Given the description of an element on the screen output the (x, y) to click on. 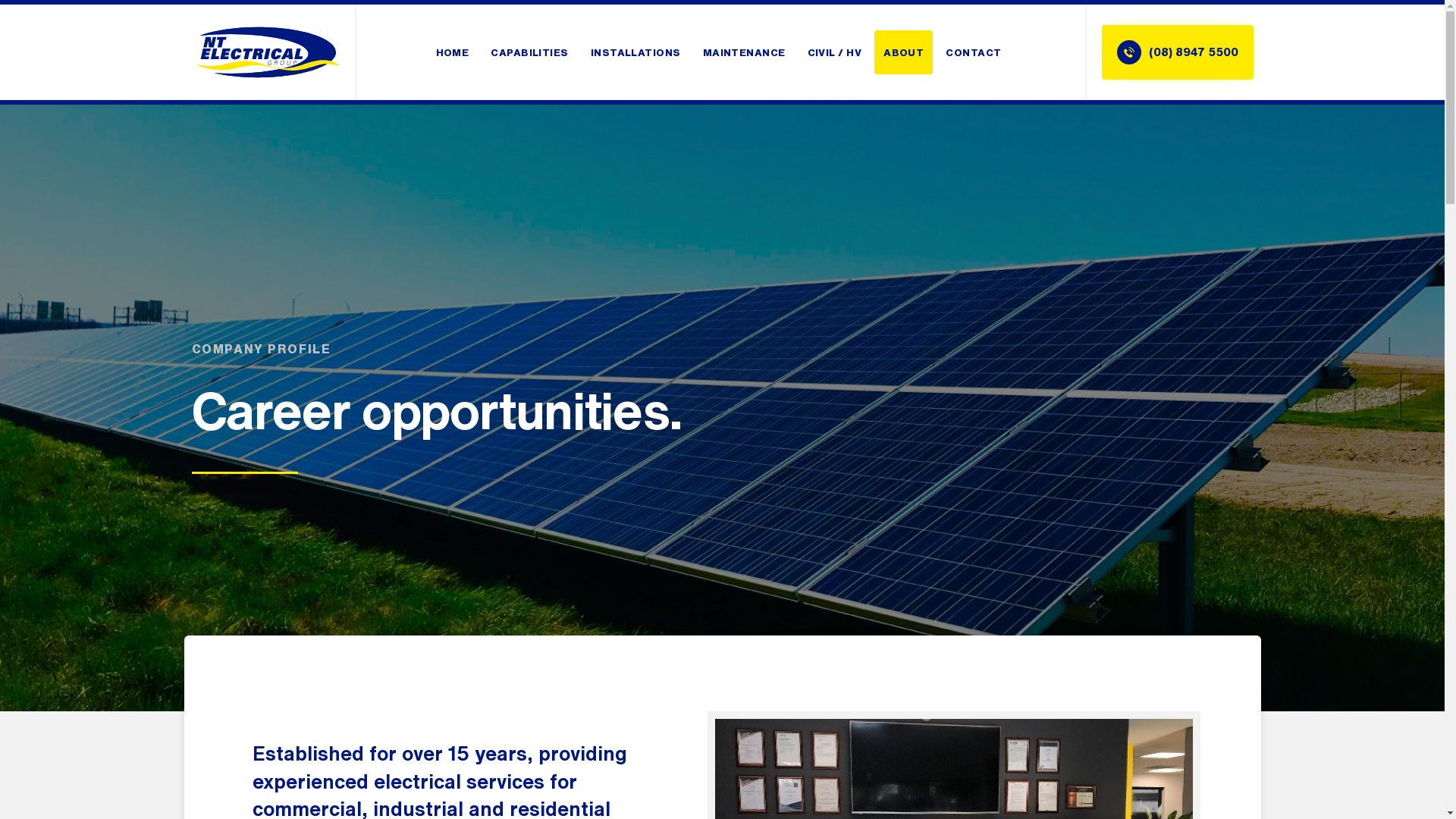
SKIP TO CONTENT Element type: text (1084, 28)
MAINTENANCE Element type: text (743, 52)
CONTACT Element type: text (973, 52)
ABOUT Element type: text (903, 52)
CIVIL / HV Element type: text (834, 52)
HOME Element type: text (452, 52)
(08) 8947 5500 Element type: text (1176, 51)
NTEG - Northern Territory Electrical Group Element type: hover (266, 51)
CAPABILITIES Element type: text (529, 52)
INSTALLATIONS Element type: text (635, 52)
